Given the description of an element on the screen output the (x, y) to click on. 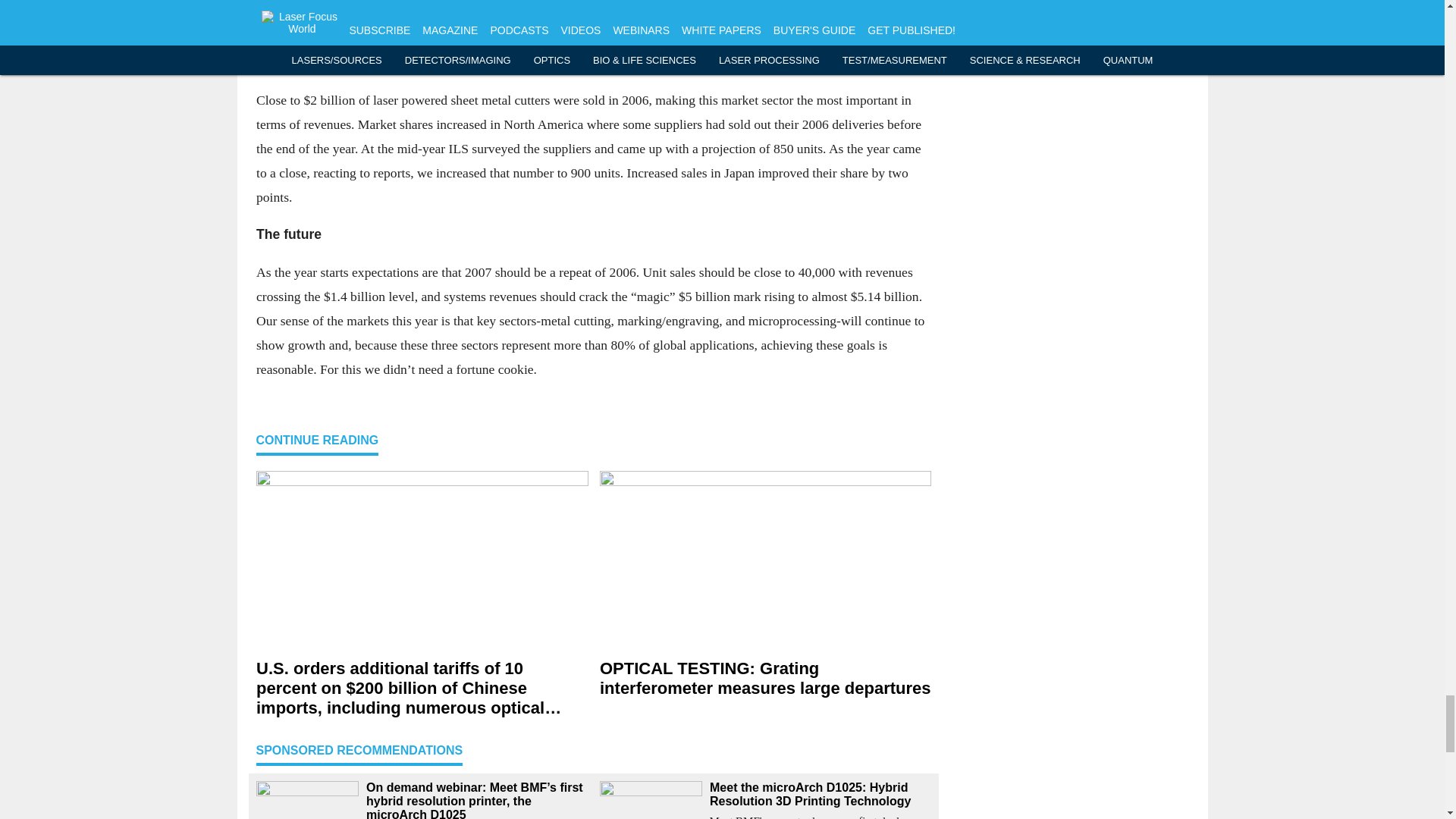
Th 0701ilsmarkets08 (593, 6)
